Given the description of an element on the screen output the (x, y) to click on. 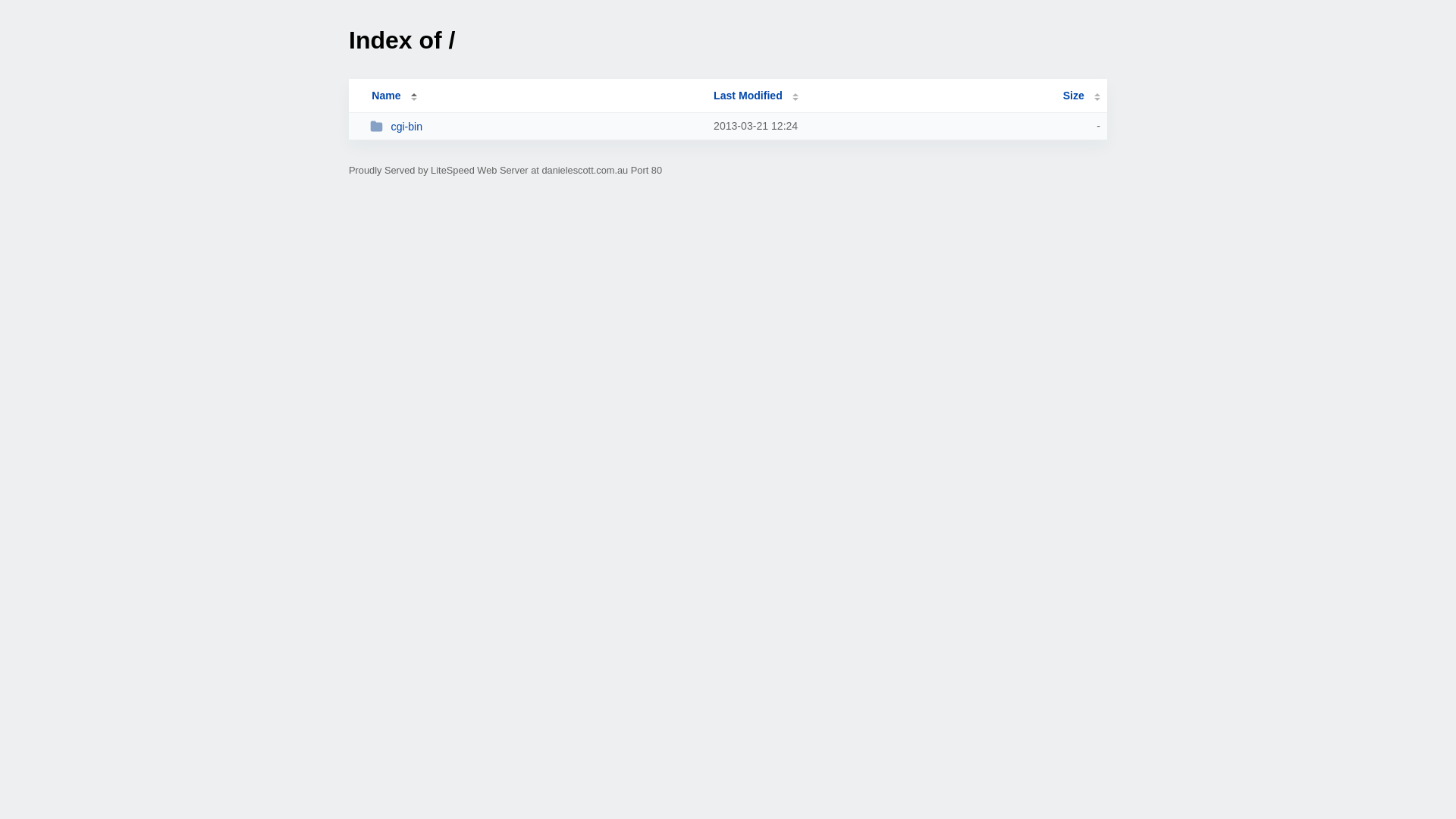
cgi-bin Element type: text (534, 125)
Last Modified Element type: text (755, 95)
Name Element type: text (385, 95)
Size Element type: text (1081, 95)
